Given the description of an element on the screen output the (x, y) to click on. 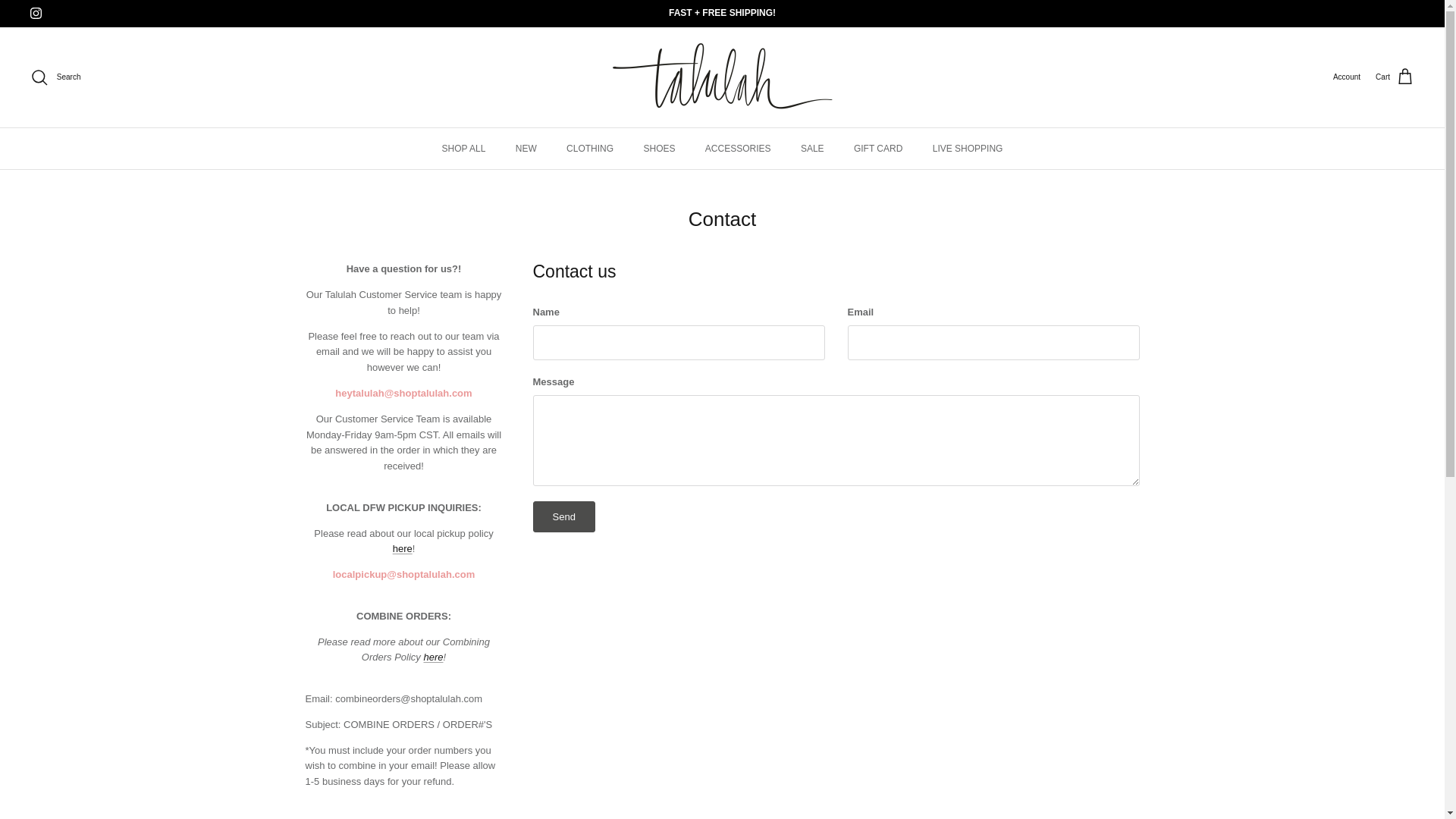
Instagram (36, 12)
Search (55, 76)
Instagram (36, 12)
Shop Talulah (722, 77)
SHOP ALL (463, 147)
Cart (1394, 76)
CLOTHING (590, 147)
NEW (526, 147)
Account (1346, 77)
SHOES (658, 147)
